Given the description of an element on the screen output the (x, y) to click on. 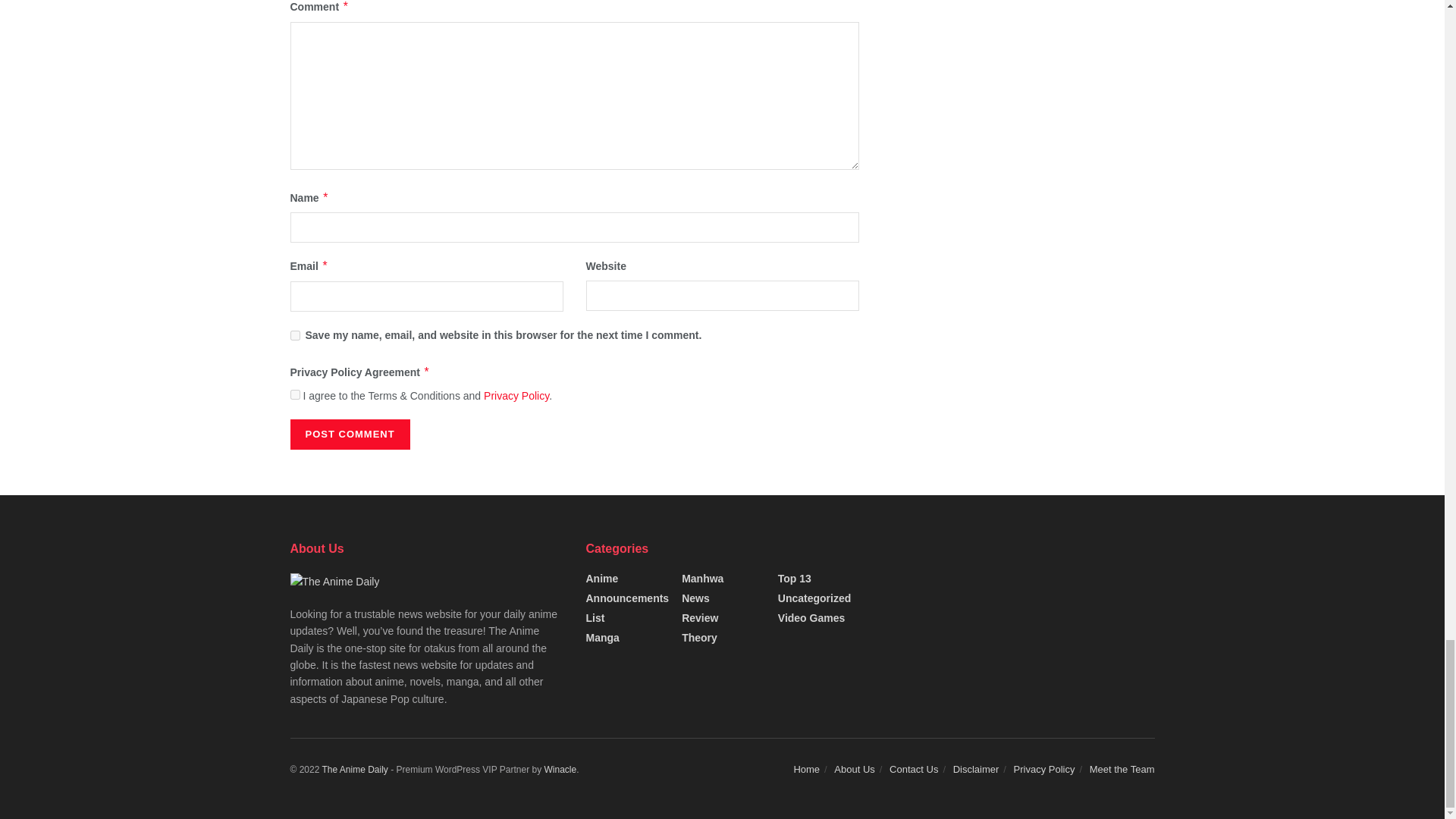
on (294, 394)
Winacle (560, 769)
Post Comment (349, 434)
yes (294, 335)
